Given the description of an element on the screen output the (x, y) to click on. 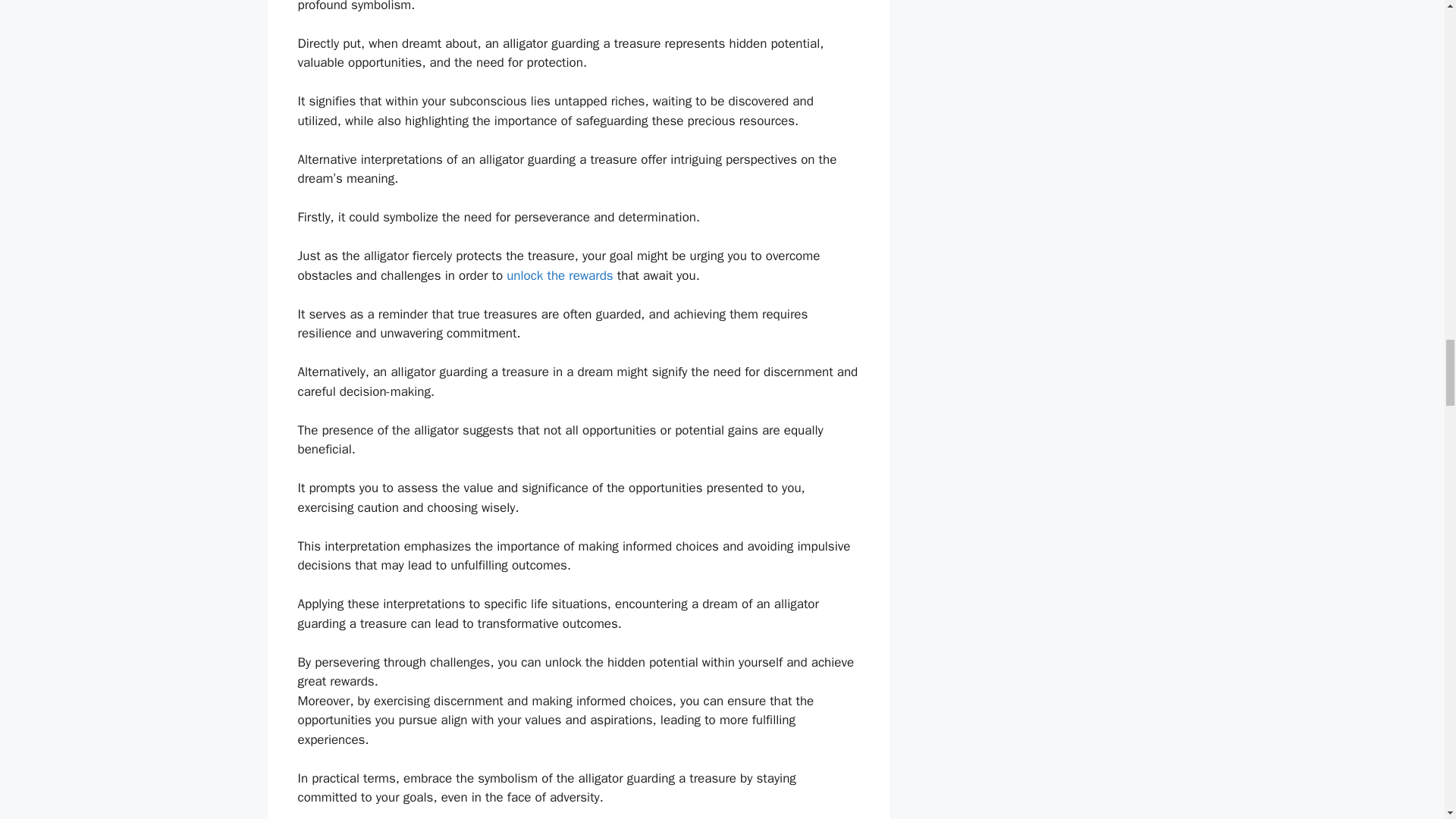
unlock the rewards (559, 275)
